Given the description of an element on the screen output the (x, y) to click on. 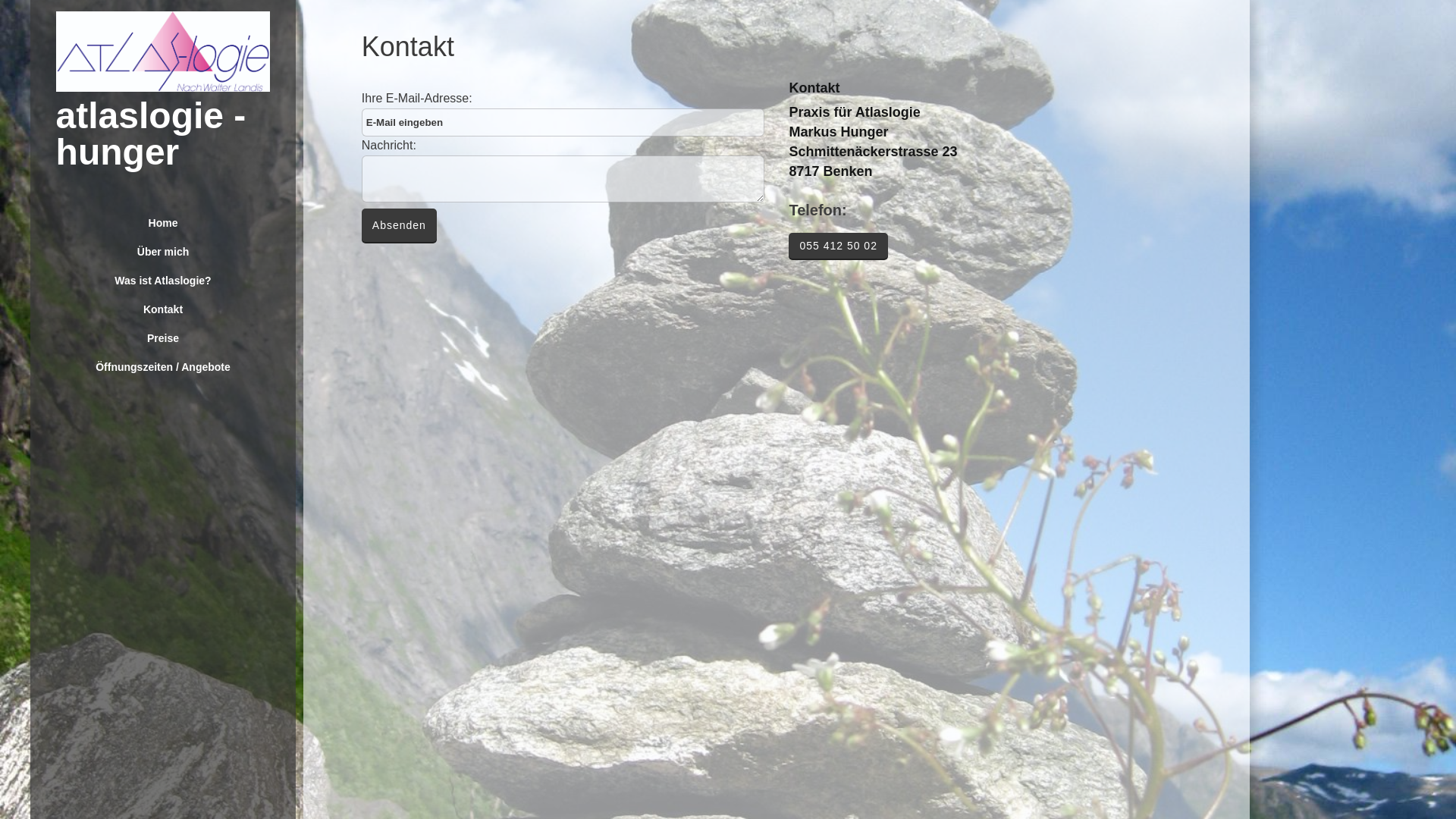
Home Element type: text (163, 222)
Was ist Atlaslogie? Element type: text (163, 280)
Preise Element type: text (163, 337)
atlaslogie - hunger Element type: text (151, 133)
Kontakt Element type: text (163, 308)
Absenden Element type: text (398, 224)
055 412 50 02 Element type: text (838, 245)
